Given the description of an element on the screen output the (x, y) to click on. 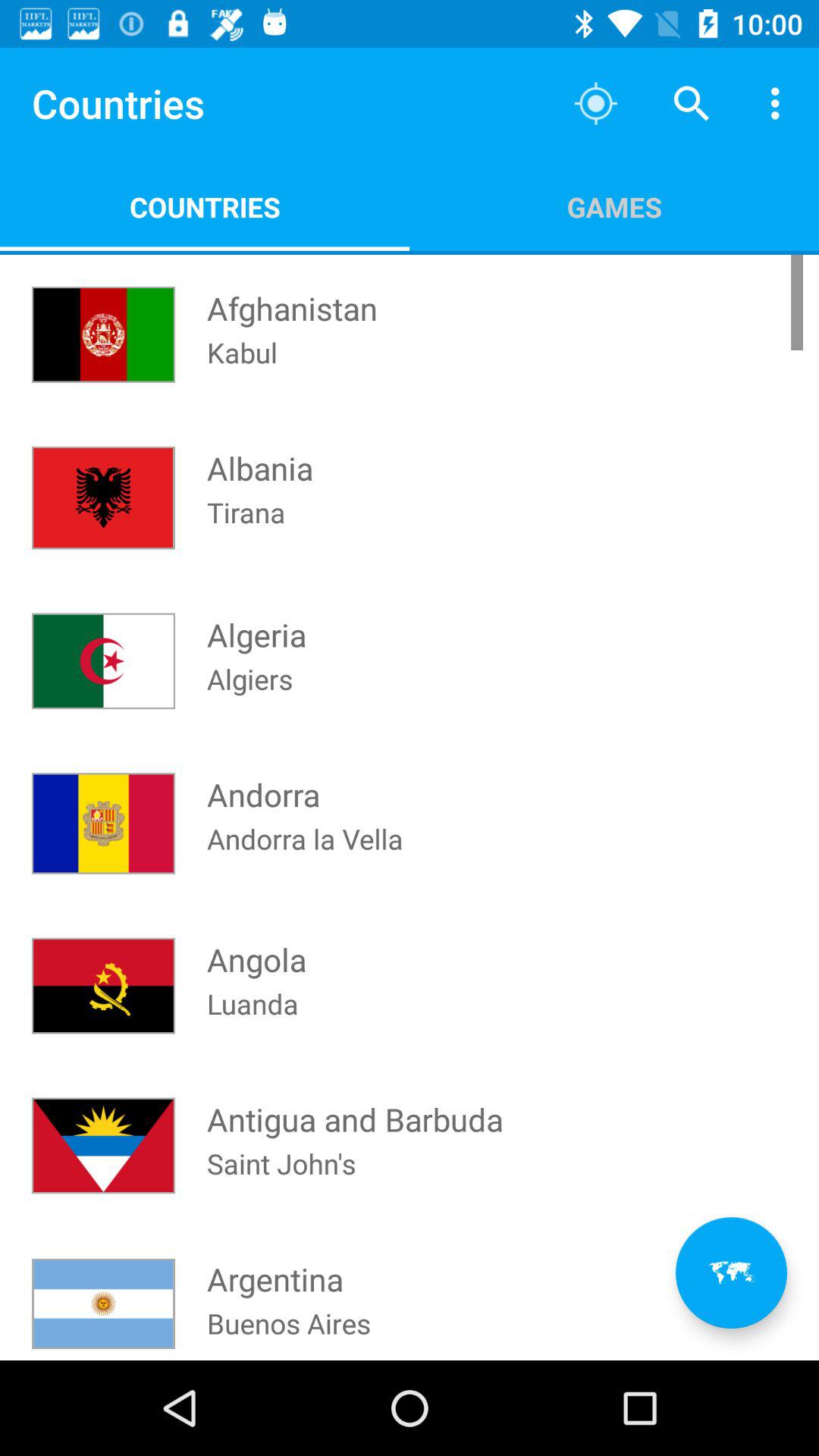
swipe until games icon (614, 206)
